Given the description of an element on the screen output the (x, y) to click on. 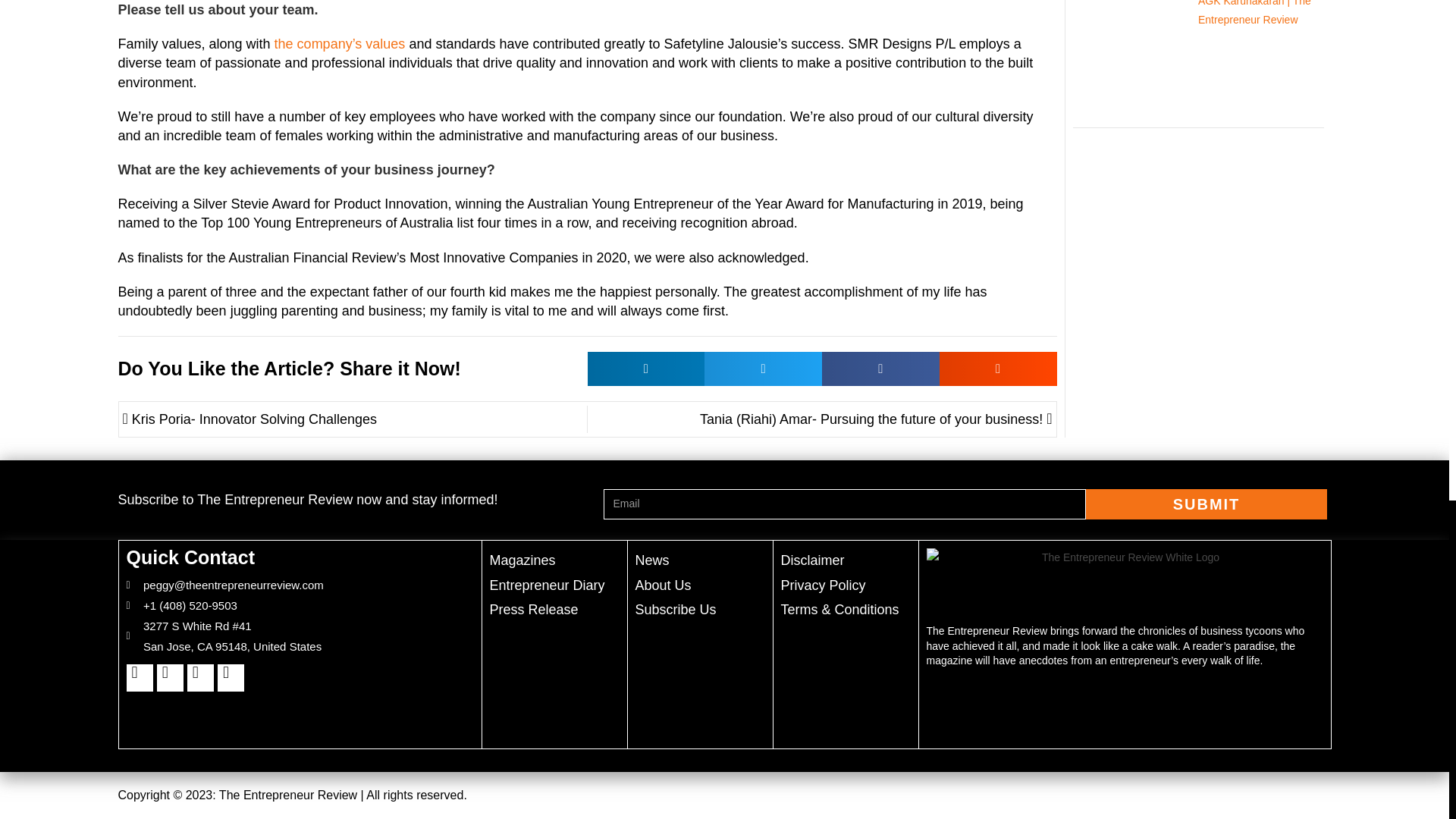
Kris Poria- Innovator Solving Challenges (355, 419)
